Given the description of an element on the screen output the (x, y) to click on. 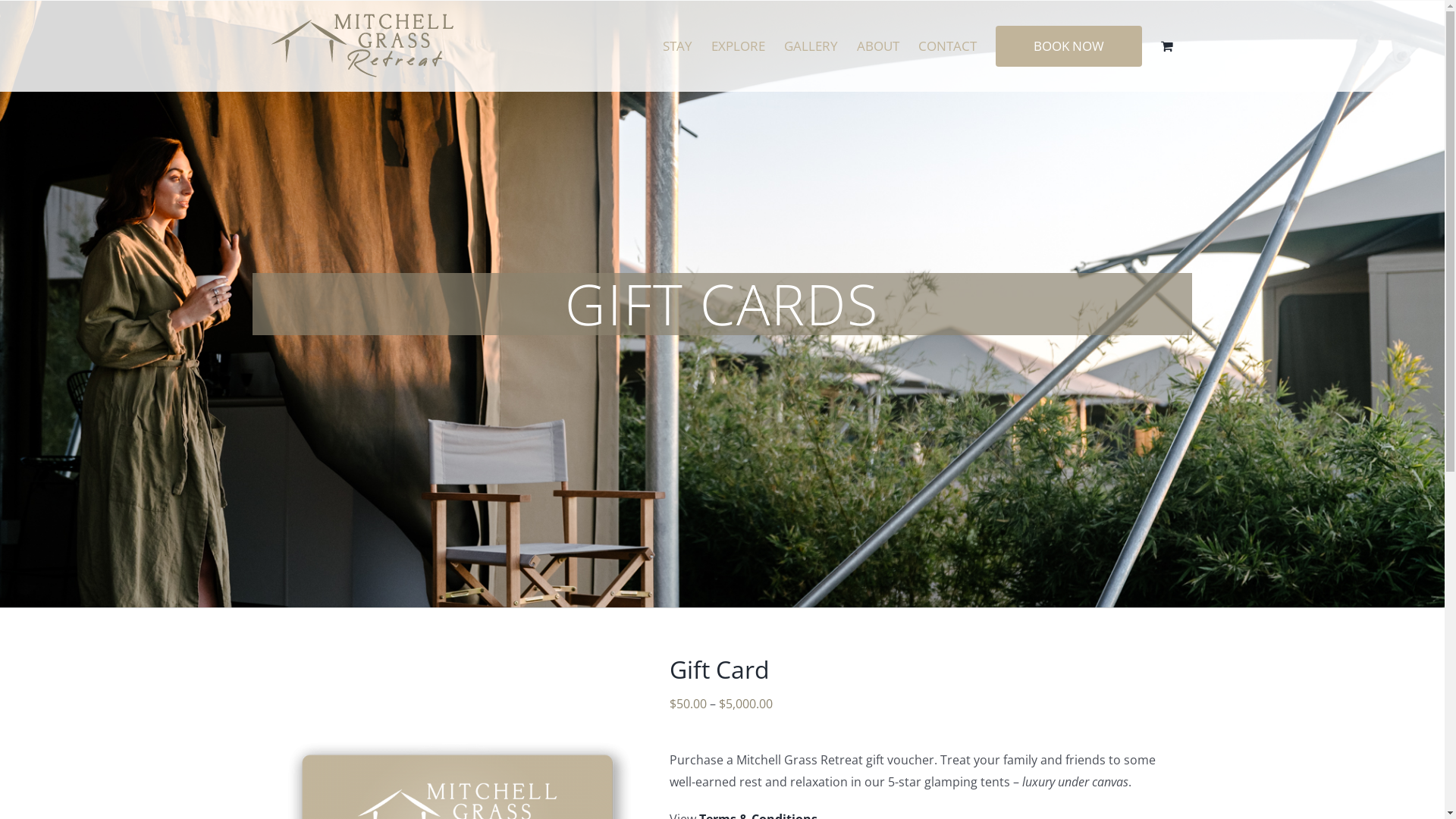
GALLERY Element type: text (810, 45)
ABOUT Element type: text (877, 45)
CONTACT Element type: text (946, 45)
BOOK NOW Element type: text (1067, 45)
EXPLORE Element type: text (738, 45)
STAY Element type: text (677, 45)
